Given the description of an element on the screen output the (x, y) to click on. 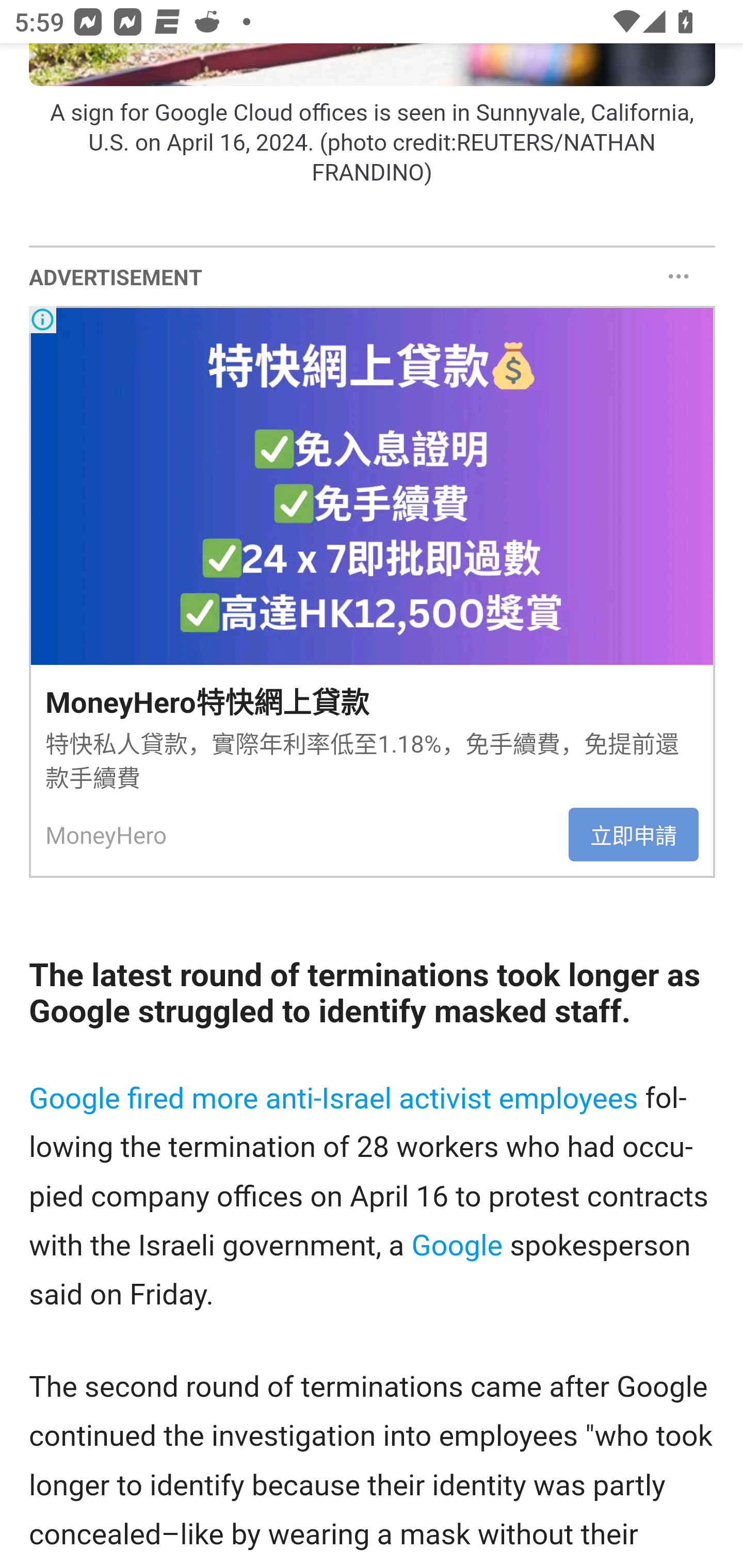
Google fired more anti-Israel activist employees (333, 1098)
Google (456, 1244)
